Given the description of an element on the screen output the (x, y) to click on. 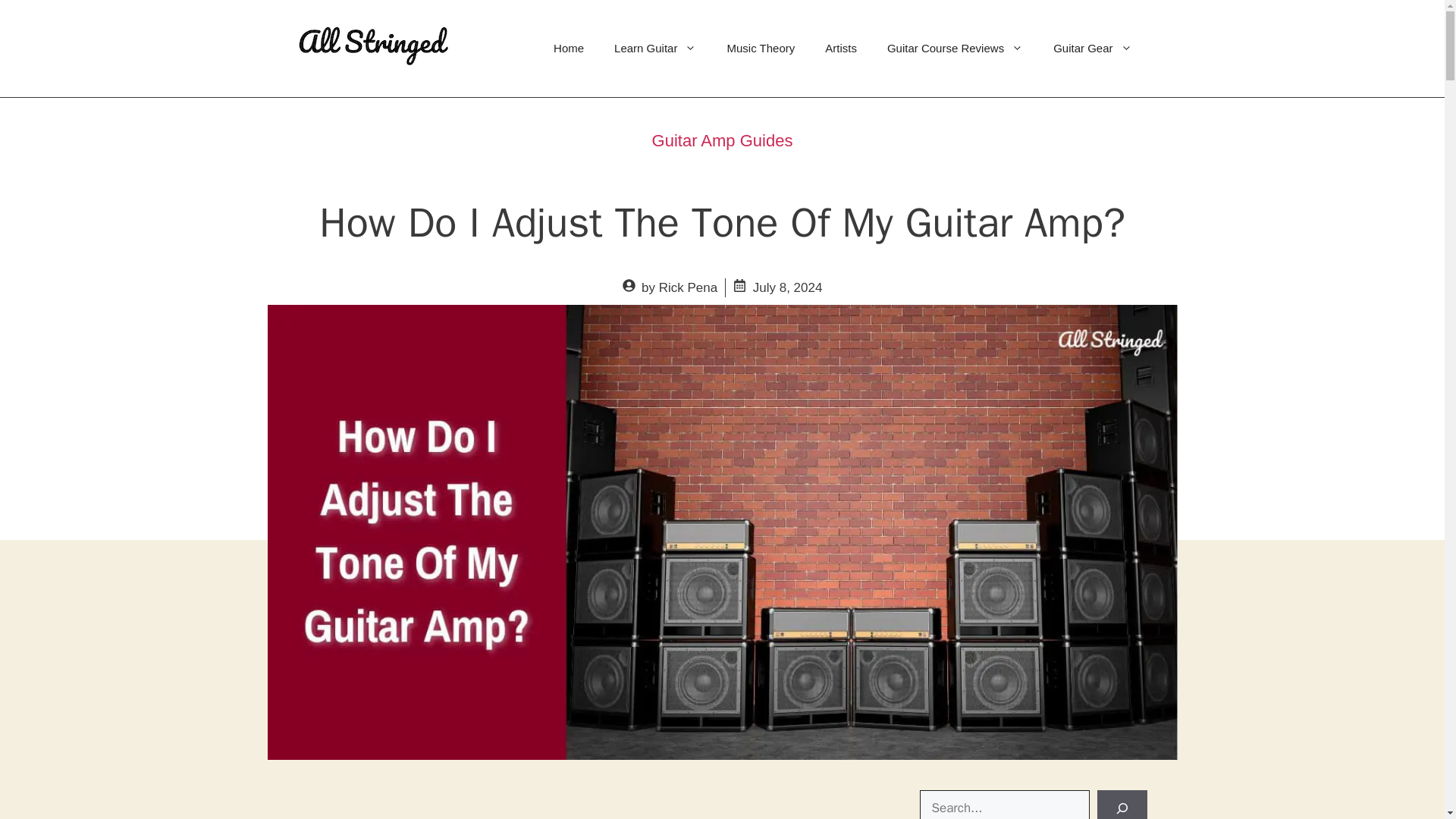
Guitar Course Reviews (955, 48)
Learn Music Theory (760, 48)
Music Theory (760, 48)
Artists (840, 48)
Learn Guitar (654, 48)
Learn To Play Guitar (568, 48)
Guitar Gear (1092, 48)
Online Guitar Learning Courses Review (955, 48)
What Kind of Guitar Does This Artist Play? (840, 48)
Home (568, 48)
